Given the description of an element on the screen output the (x, y) to click on. 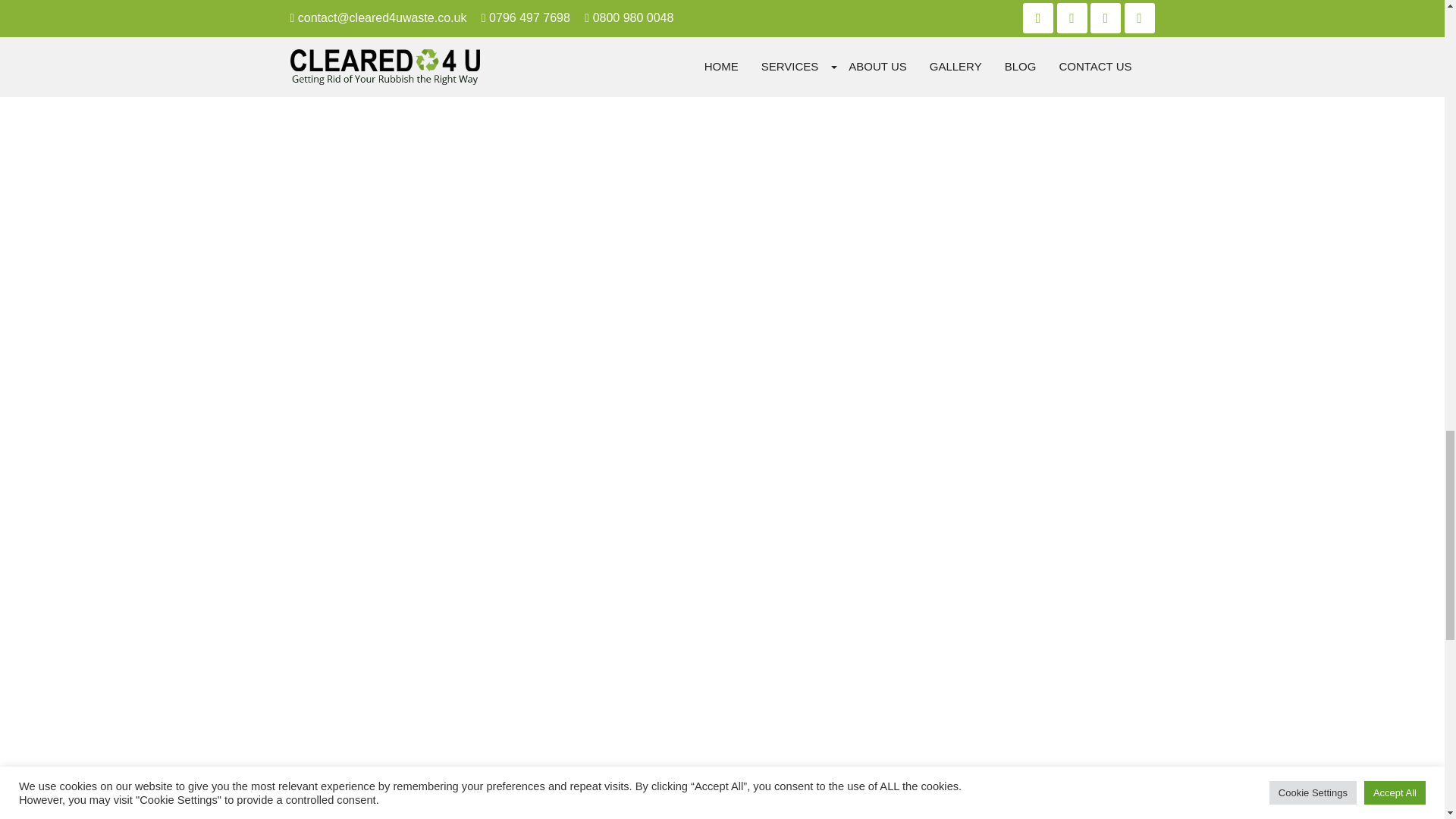
SUBMIT YOUR REQUEST (403, 698)
